Given the description of an element on the screen output the (x, y) to click on. 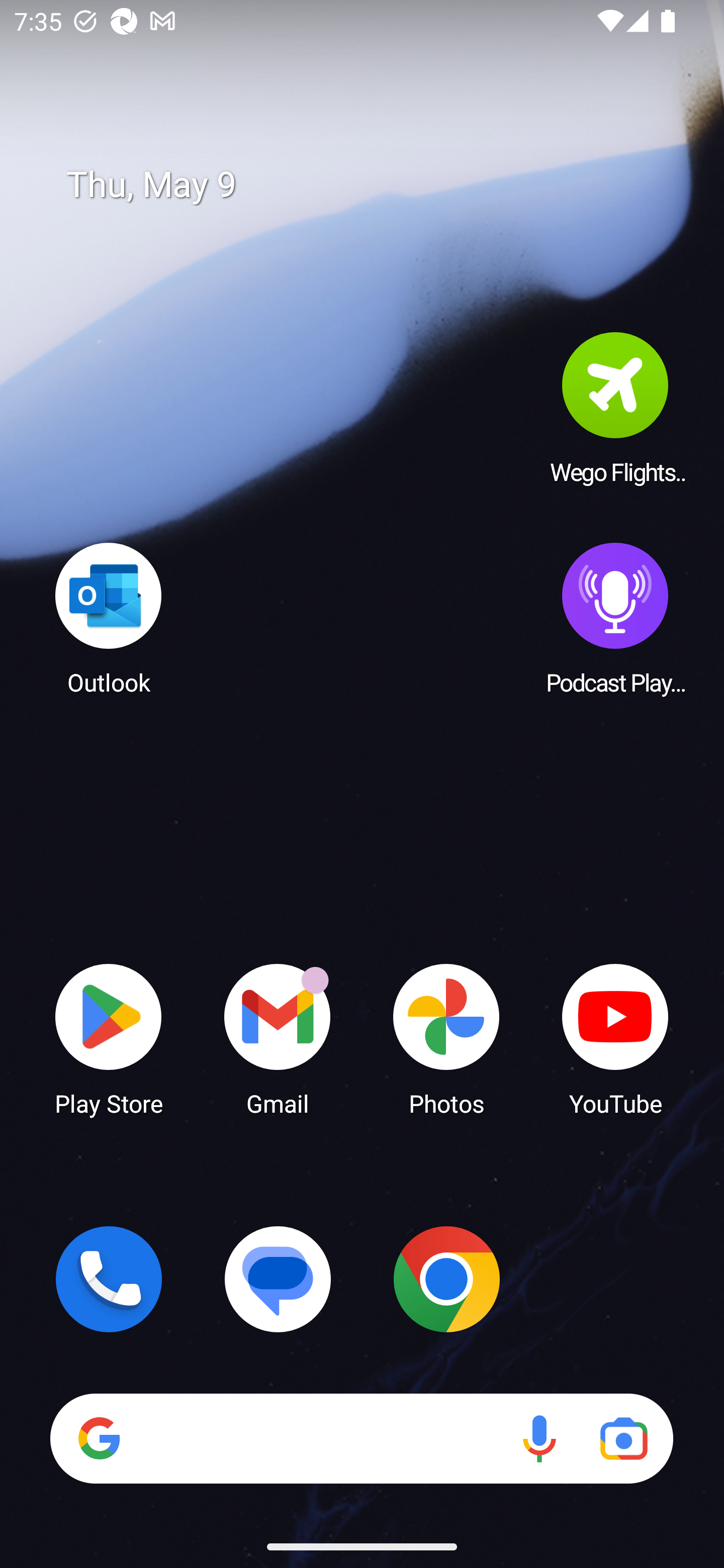
Thu, May 9 (375, 184)
Wego Flights & Hotels (615, 407)
Outlook (108, 617)
Podcast Player (615, 617)
Play Store (108, 1038)
Gmail Gmail has 18 notifications (277, 1038)
Photos (445, 1038)
YouTube (615, 1038)
Phone (108, 1279)
Messages (277, 1279)
Chrome (446, 1279)
Search Voice search Google Lens (361, 1438)
Voice search (539, 1438)
Google Lens (623, 1438)
